Given the description of an element on the screen output the (x, y) to click on. 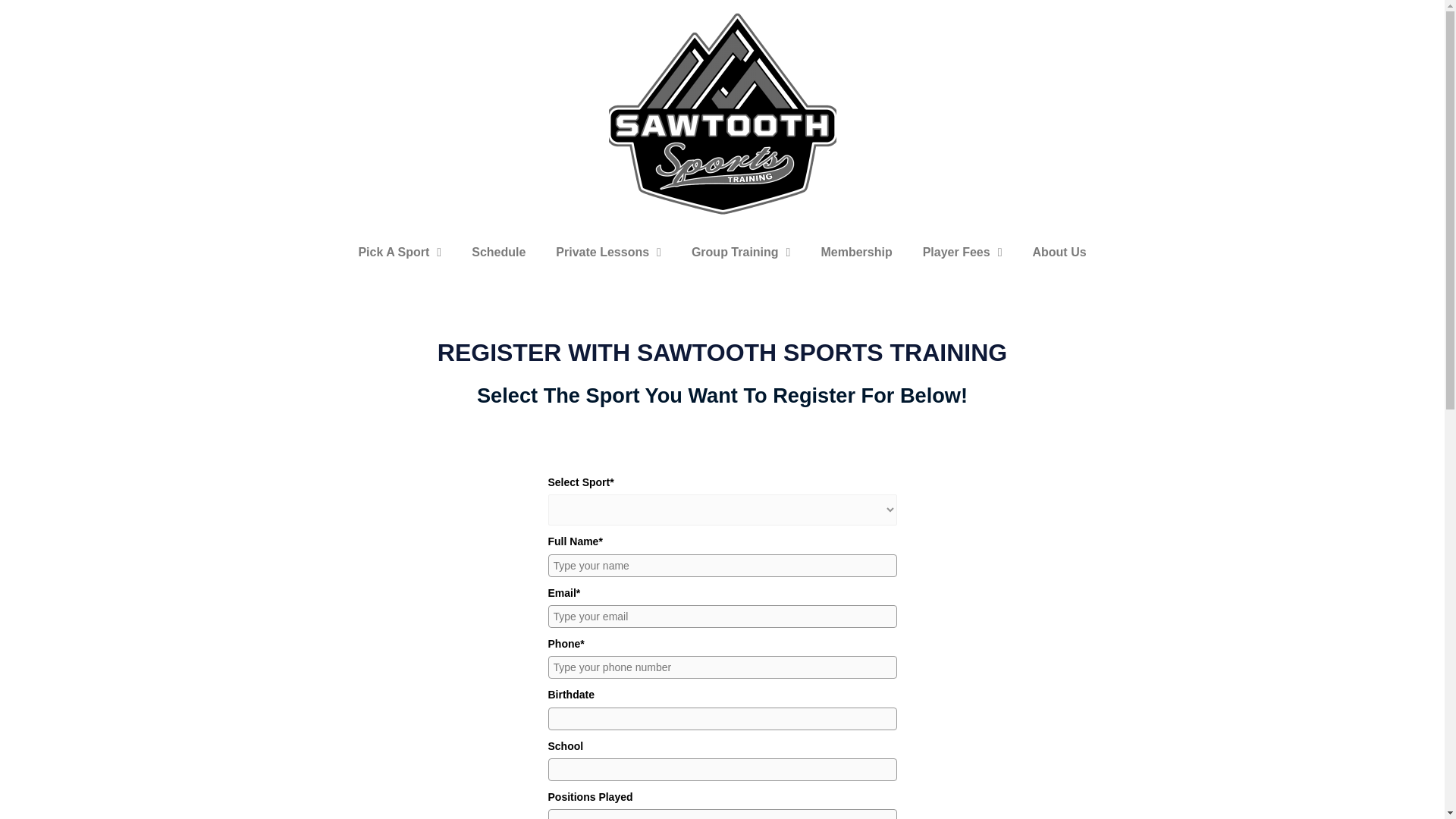
Player Fees (962, 252)
Schedule (498, 252)
Private Lessons (608, 252)
Pick A Sport (399, 252)
Membership (856, 252)
Group Training (741, 252)
About Us (1058, 252)
